Given the description of an element on the screen output the (x, y) to click on. 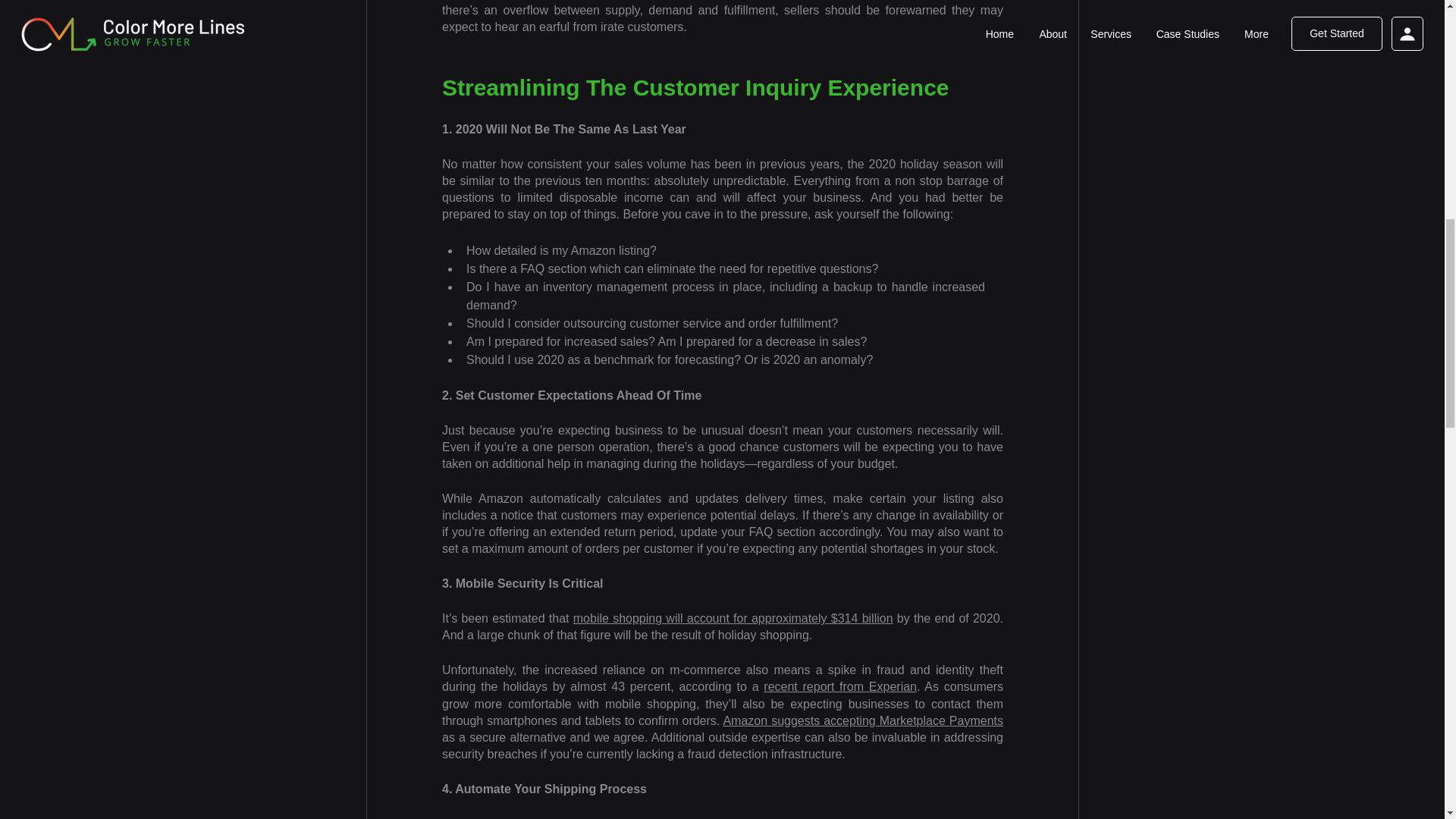
recent report from Experian (839, 686)
Amazon suggests accepting Marketplace Payments (862, 720)
